Given the description of an element on the screen output the (x, y) to click on. 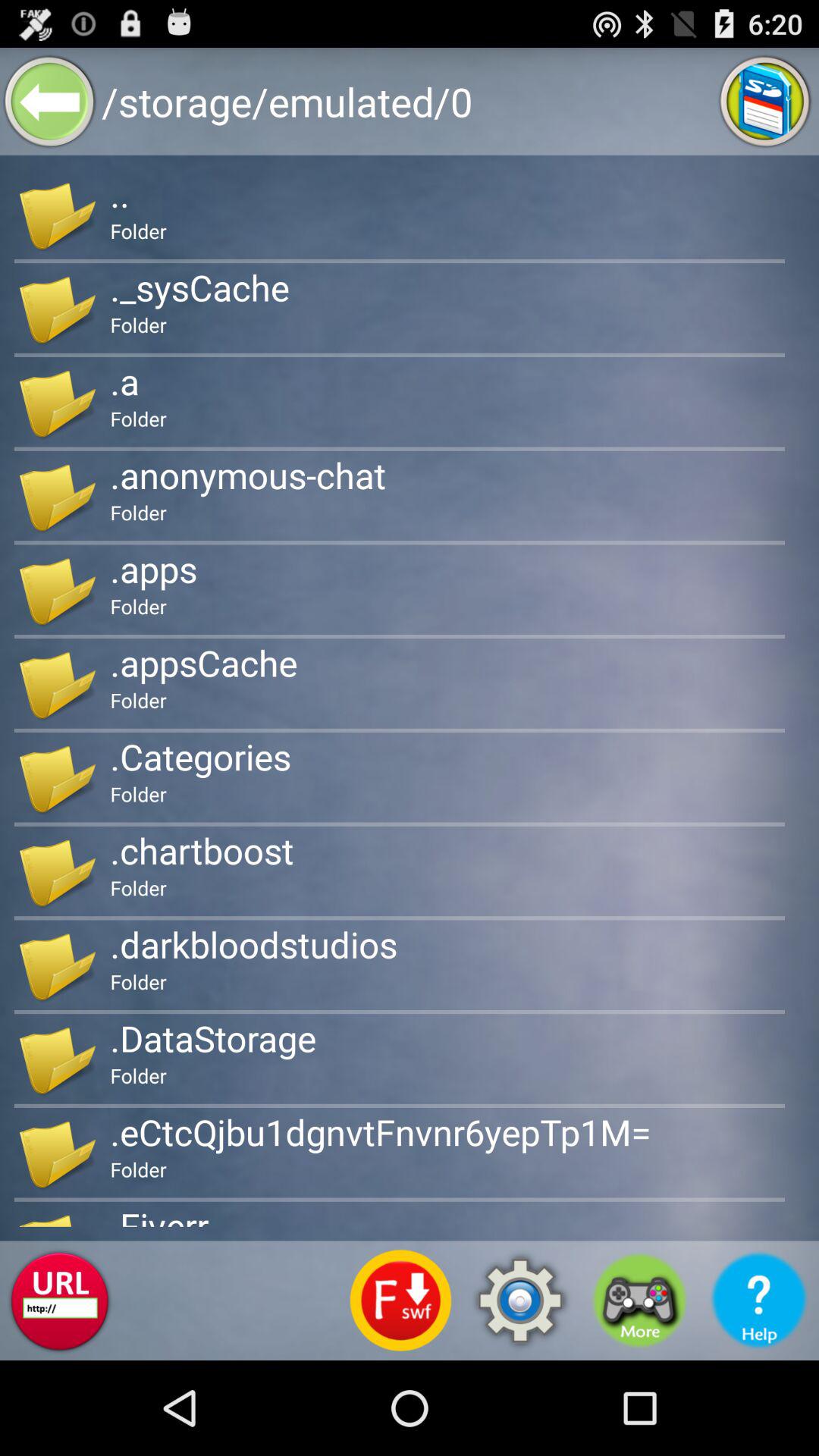
click the item at the top right corner (765, 101)
